Given the description of an element on the screen output the (x, y) to click on. 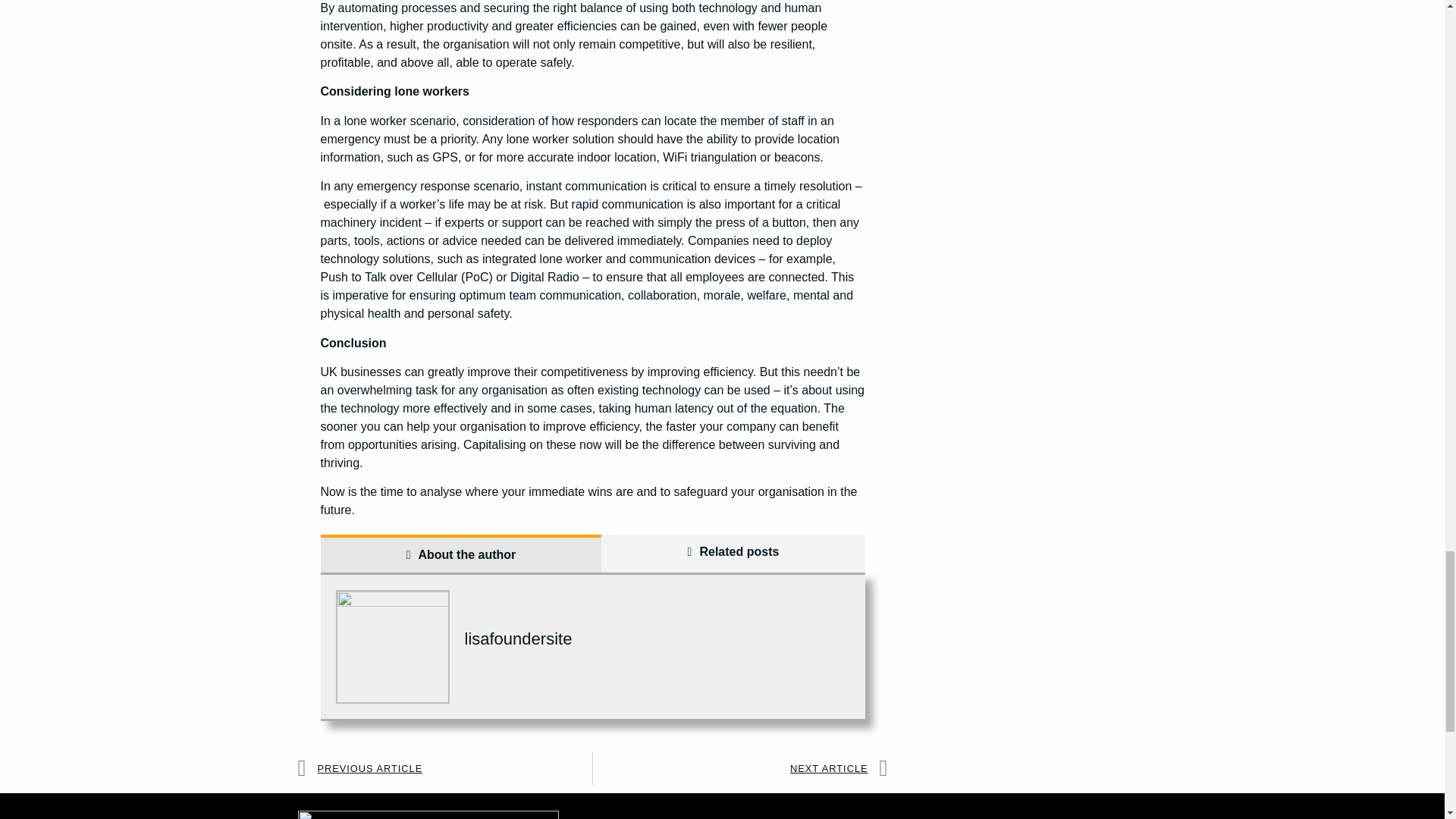
lisafoundersite (518, 638)
